Given the description of an element on the screen output the (x, y) to click on. 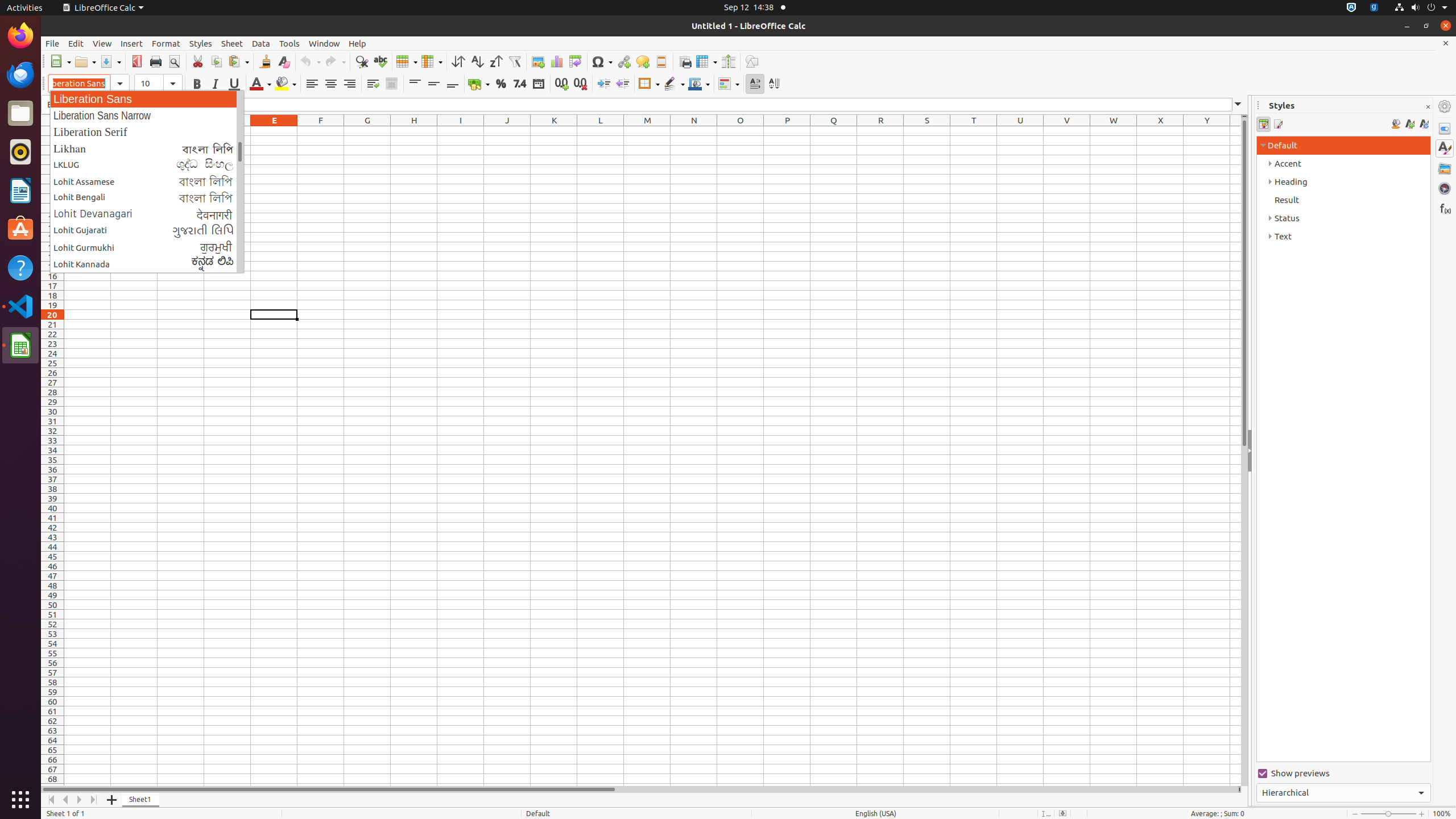
Insert Element type: menu (131, 43)
Sheet Element type: menu (231, 43)
Styles Element type: radio-button (1444, 148)
:1.72/StatusNotifierItem Element type: menu (1350, 7)
File Element type: menu (51, 43)
